Given the description of an element on the screen output the (x, y) to click on. 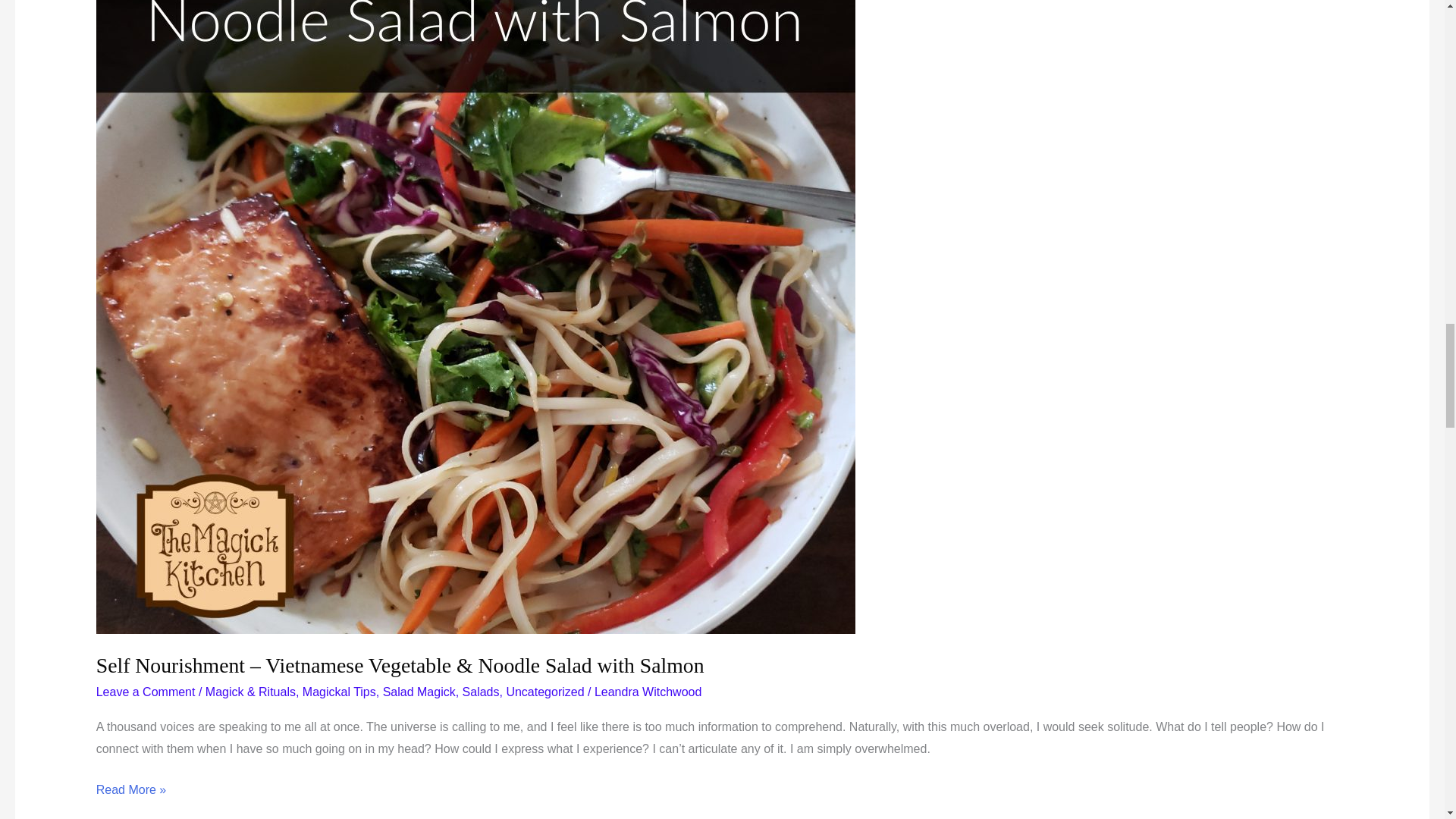
View all posts by Leandra Witchwood (647, 691)
